Given the description of an element on the screen output the (x, y) to click on. 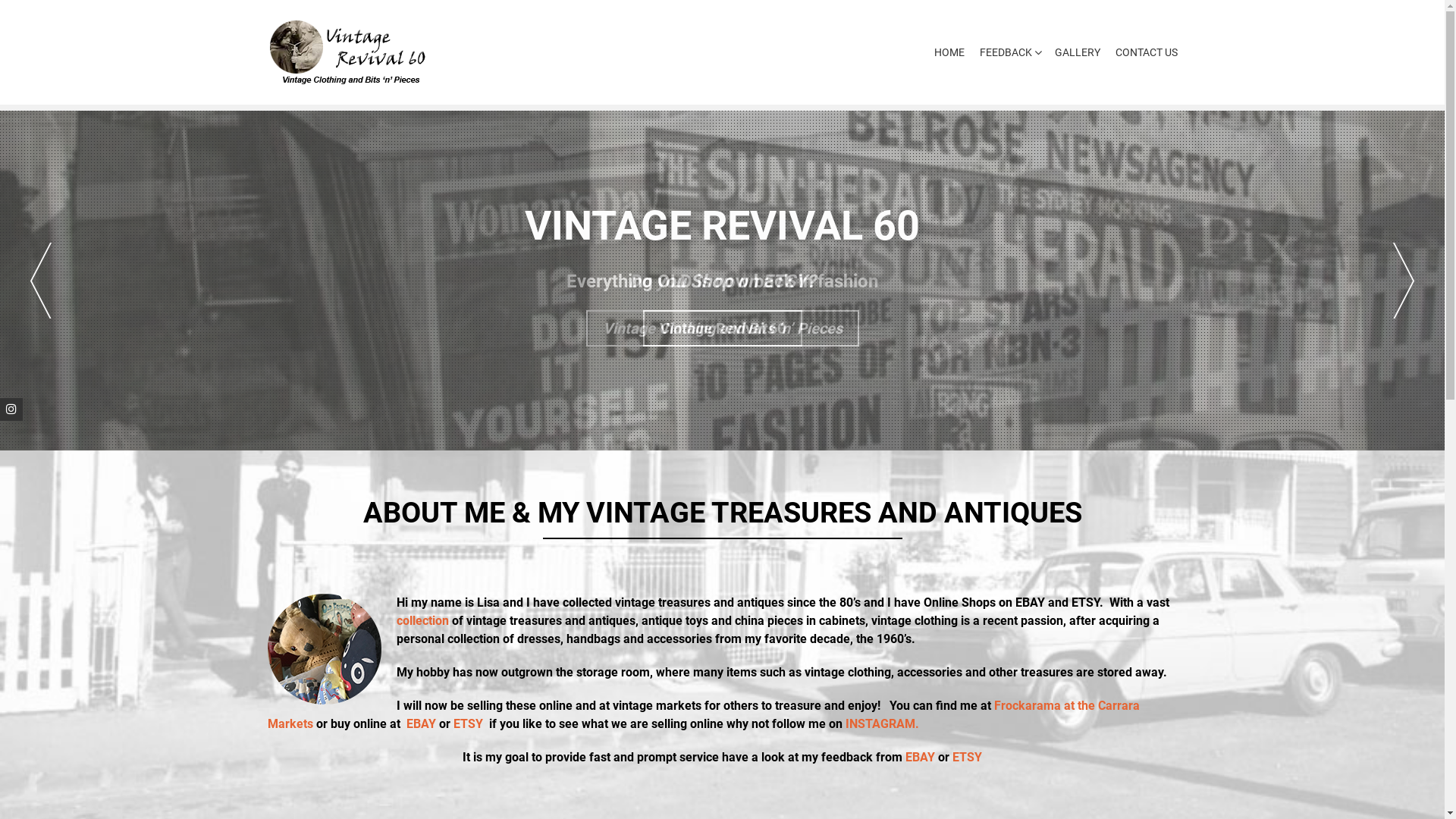
INSTAGRAM. Element type: text (881, 723)
Previous Element type: text (40, 280)
CONTACT US Element type: text (1141, 52)
GALLERY Element type: text (1076, 52)
ETSY Element type: text (967, 756)
ETSY Element type: text (468, 723)
EBAY Element type: text (920, 756)
Vintage Revival 60 Element type: text (722, 328)
EBAY Element type: text (421, 723)
Frockarama at the Carrara Markets Element type: text (702, 714)
collection Element type: text (421, 620)
FEEDBACK Element type: text (1005, 52)
HOME Element type: text (949, 52)
Next Element type: text (1403, 280)
